Given the description of an element on the screen output the (x, y) to click on. 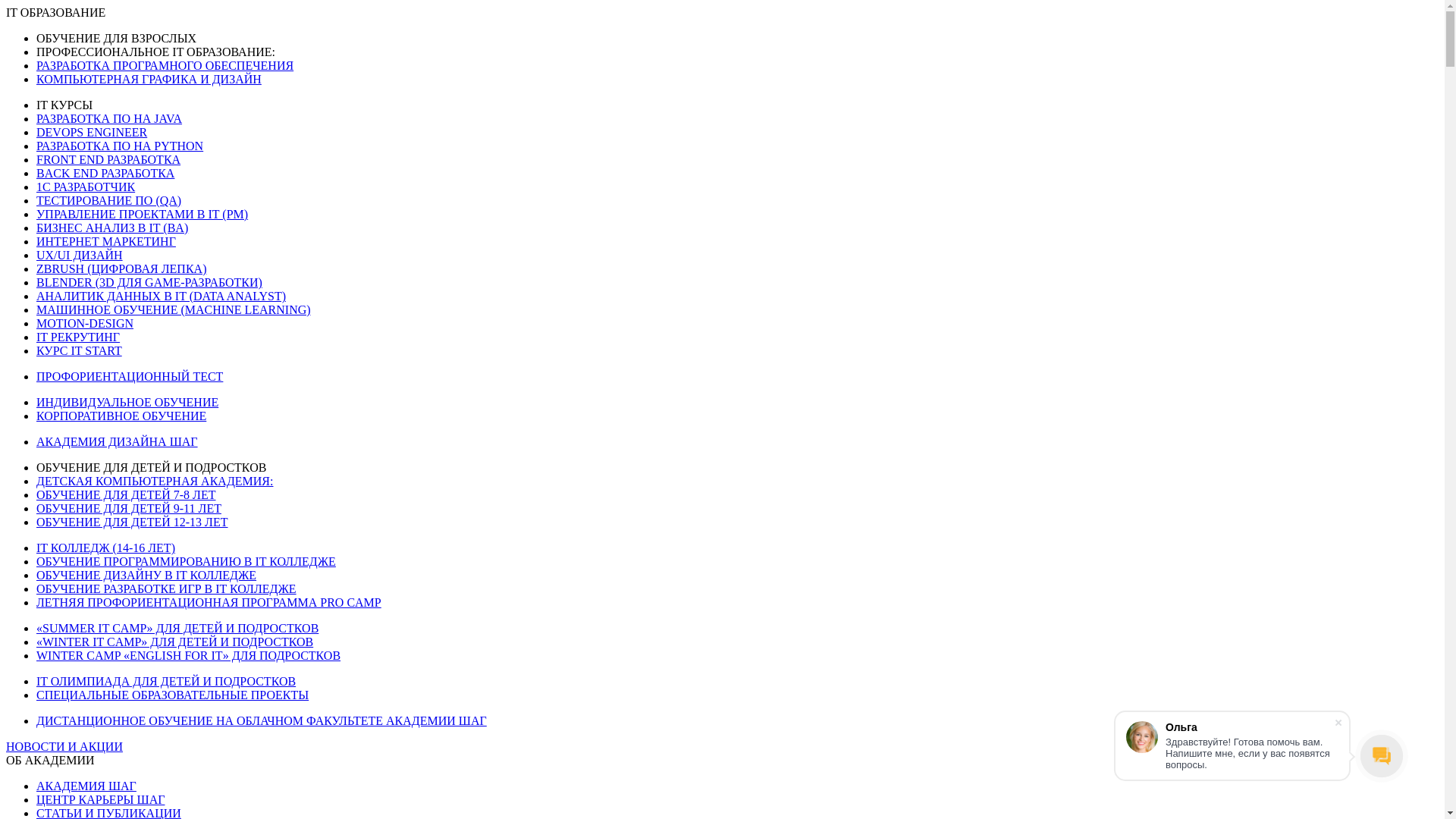
MOTION-DESIGN Element type: text (84, 322)
DEVOPS ENGINEER Element type: text (91, 131)
